Given the description of an element on the screen output the (x, y) to click on. 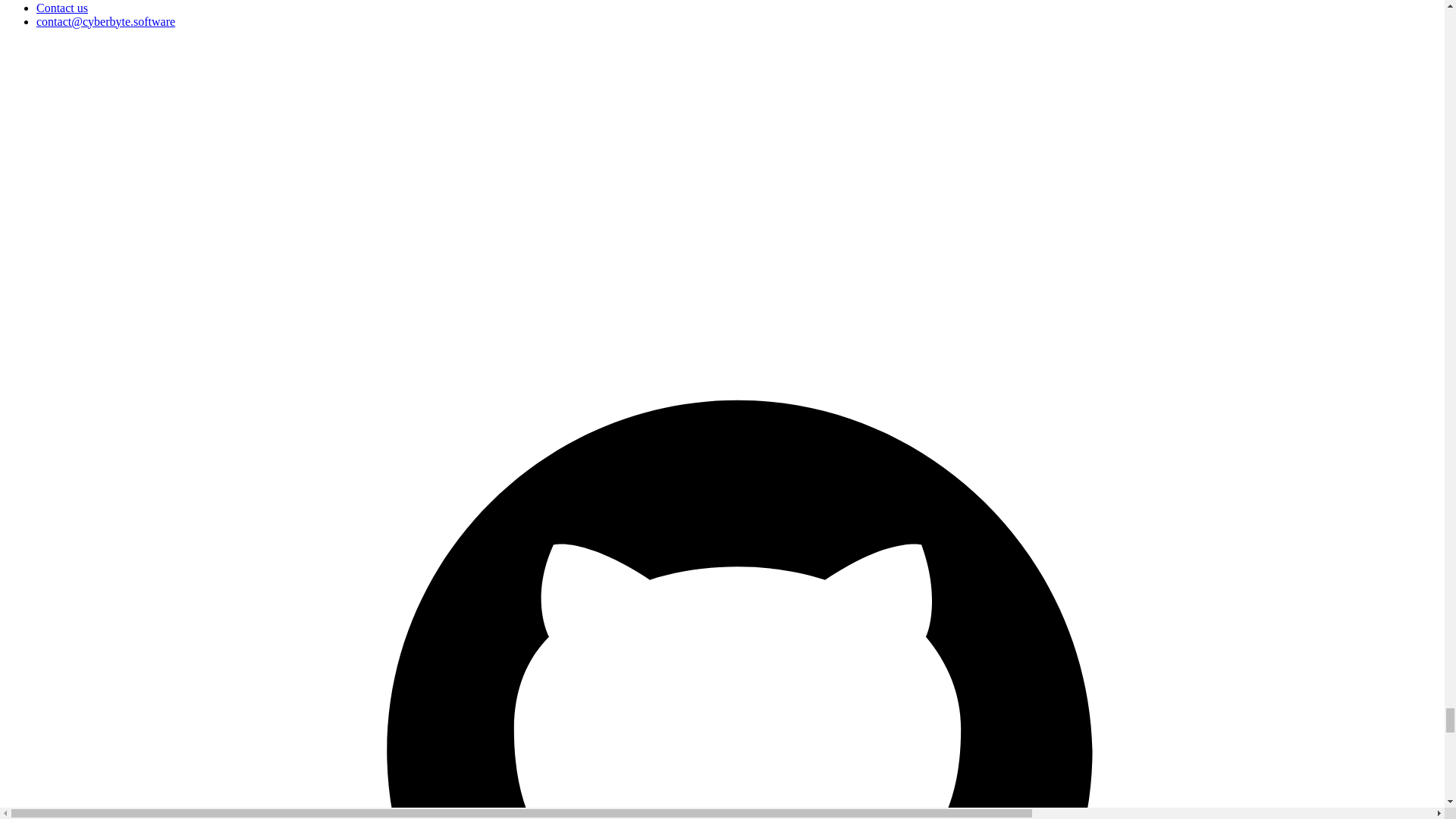
Contact us (61, 7)
